Given the description of an element on the screen output the (x, y) to click on. 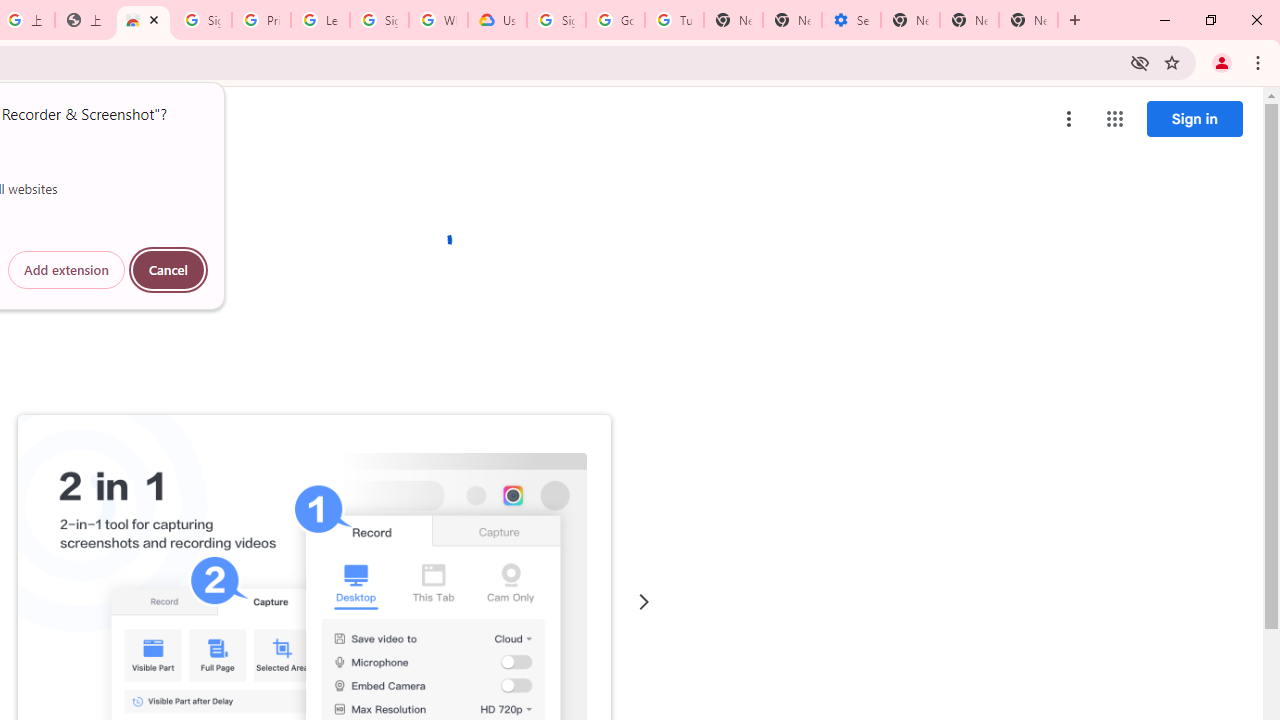
Sign in - Google Accounts (201, 20)
Turn cookies on or off - Computer - Google Account Help (674, 20)
Cancel (168, 269)
More options menu (1069, 118)
New Tab (909, 20)
Who are Google's partners? - Privacy and conditions - Google (438, 20)
